Given the description of an element on the screen output the (x, y) to click on. 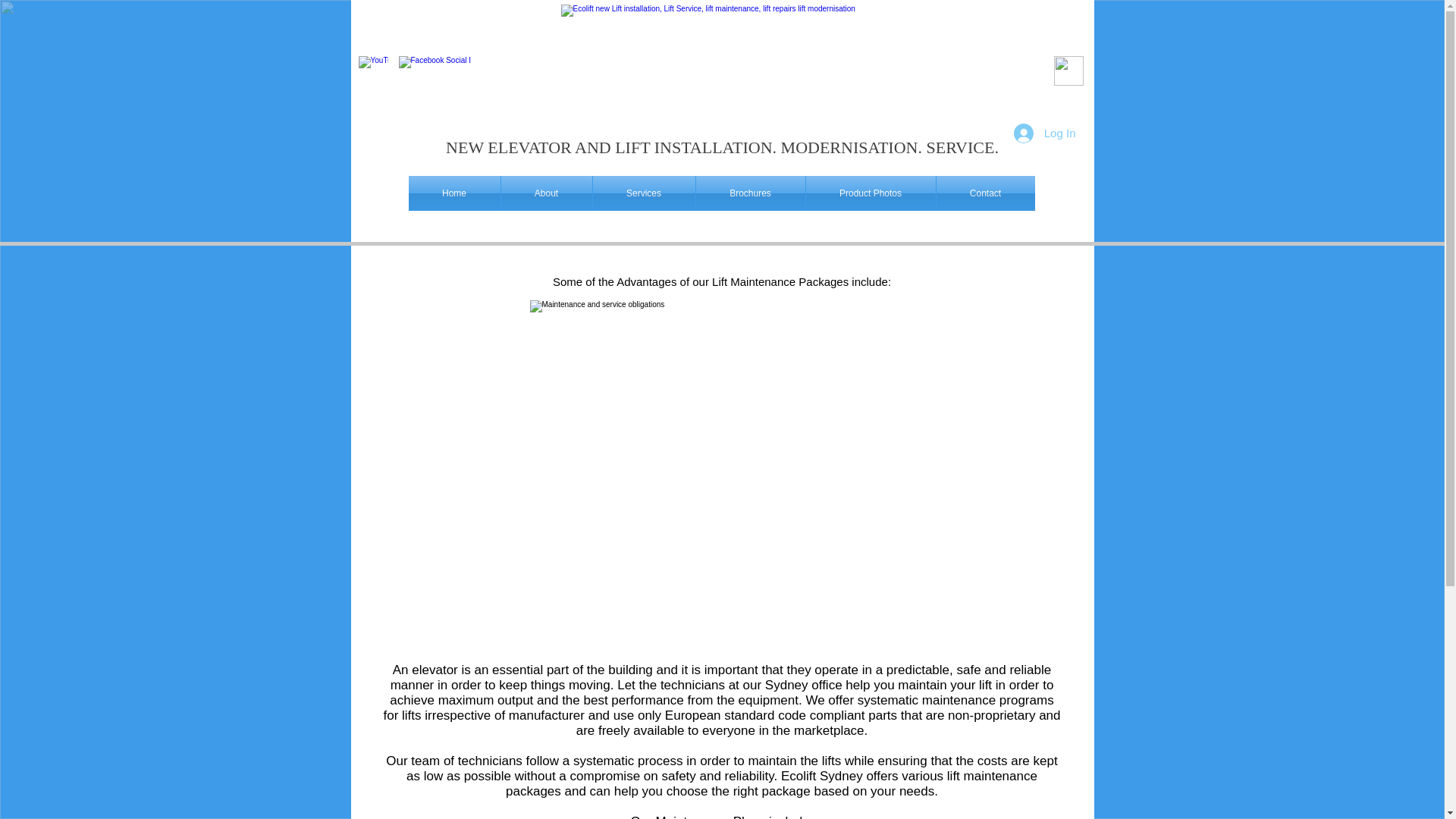
ECOLIFT The Economical Alternative (721, 63)
Log In (1044, 132)
Brochures (750, 193)
About (545, 193)
Home (453, 193)
Contact (984, 193)
Product Photos (869, 193)
Contact Us (1068, 70)
